Given the description of an element on the screen output the (x, y) to click on. 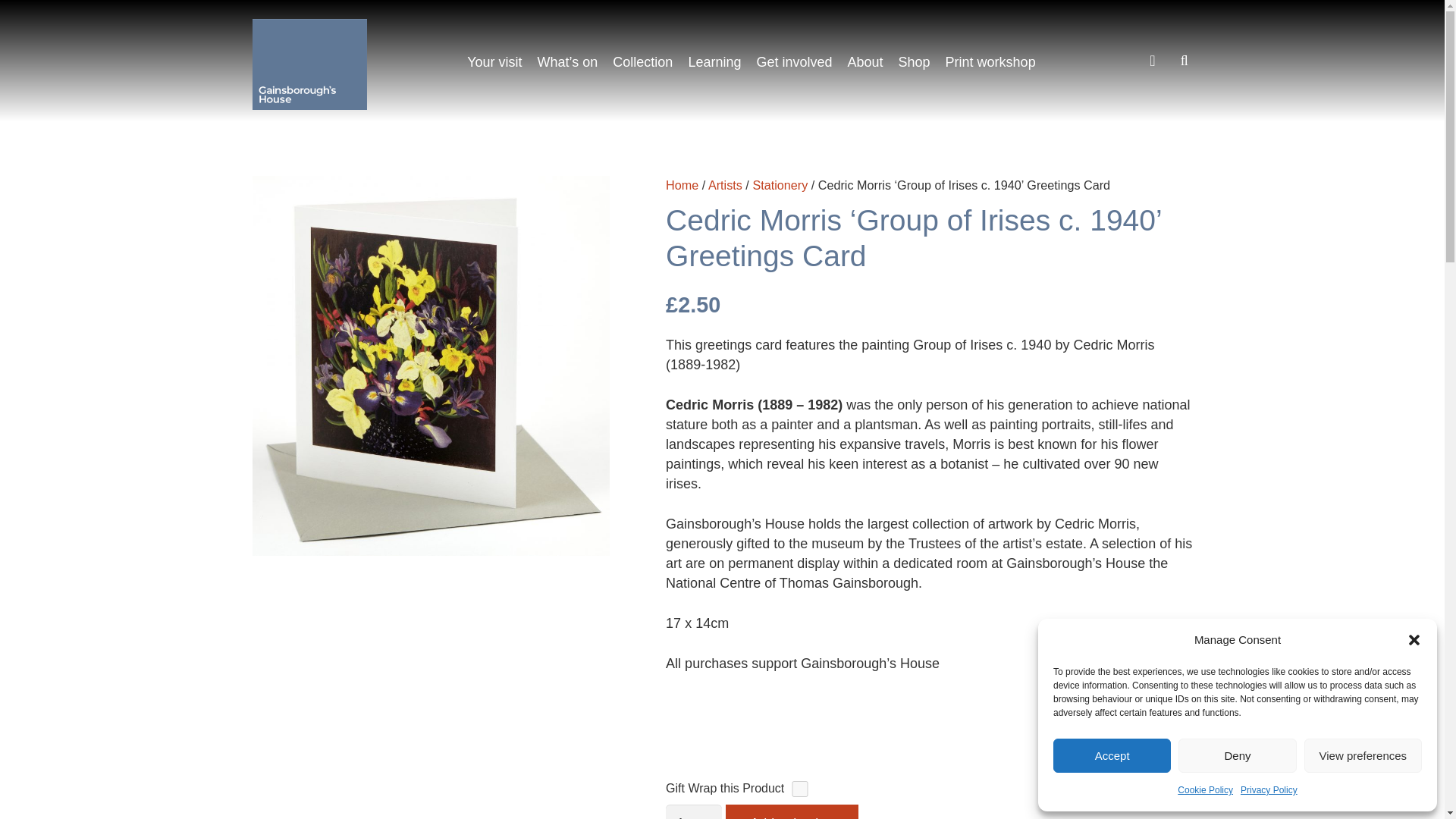
Deny (1236, 755)
Your visit (494, 62)
Collection (642, 62)
1 (693, 811)
View preferences (1363, 755)
Cookie Policy (1205, 790)
Accept (1111, 755)
Privacy Policy (1268, 790)
on (800, 789)
